Given the description of an element on the screen output the (x, y) to click on. 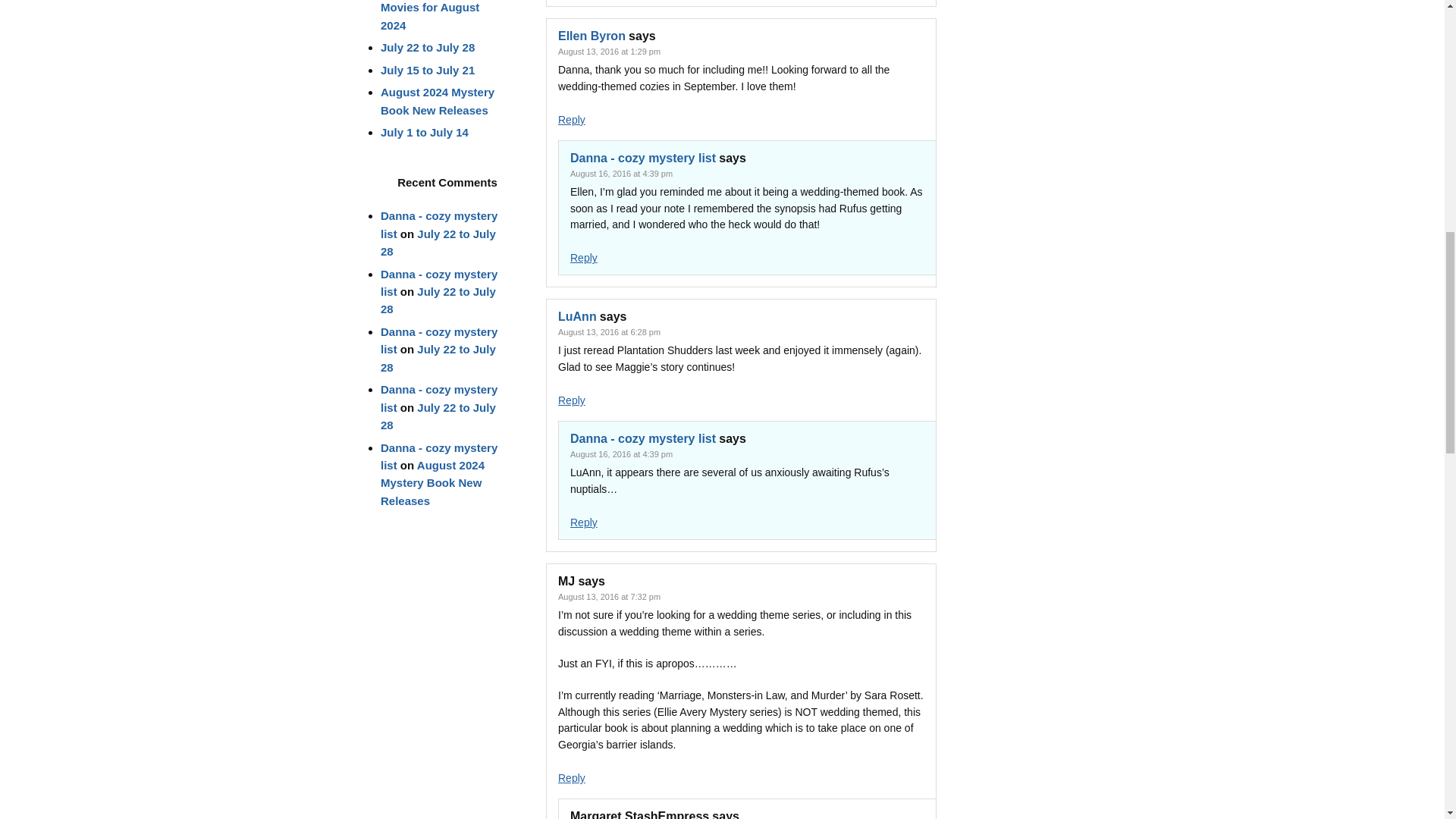
Danna - cozy mystery list (643, 157)
August 13, 2016 at 7:32 pm (609, 596)
August 16, 2016 at 4:39 pm (621, 453)
Ellen Byron (591, 35)
LuAnn (576, 316)
Reply (583, 257)
Reply (571, 777)
August 16, 2016 at 4:39 pm (621, 172)
Reply (571, 119)
Reply (571, 399)
August 13, 2016 at 1:29 pm (609, 51)
Reply (583, 522)
August 13, 2016 at 6:28 pm (609, 331)
Danna - cozy mystery list (643, 438)
